Given the description of an element on the screen output the (x, y) to click on. 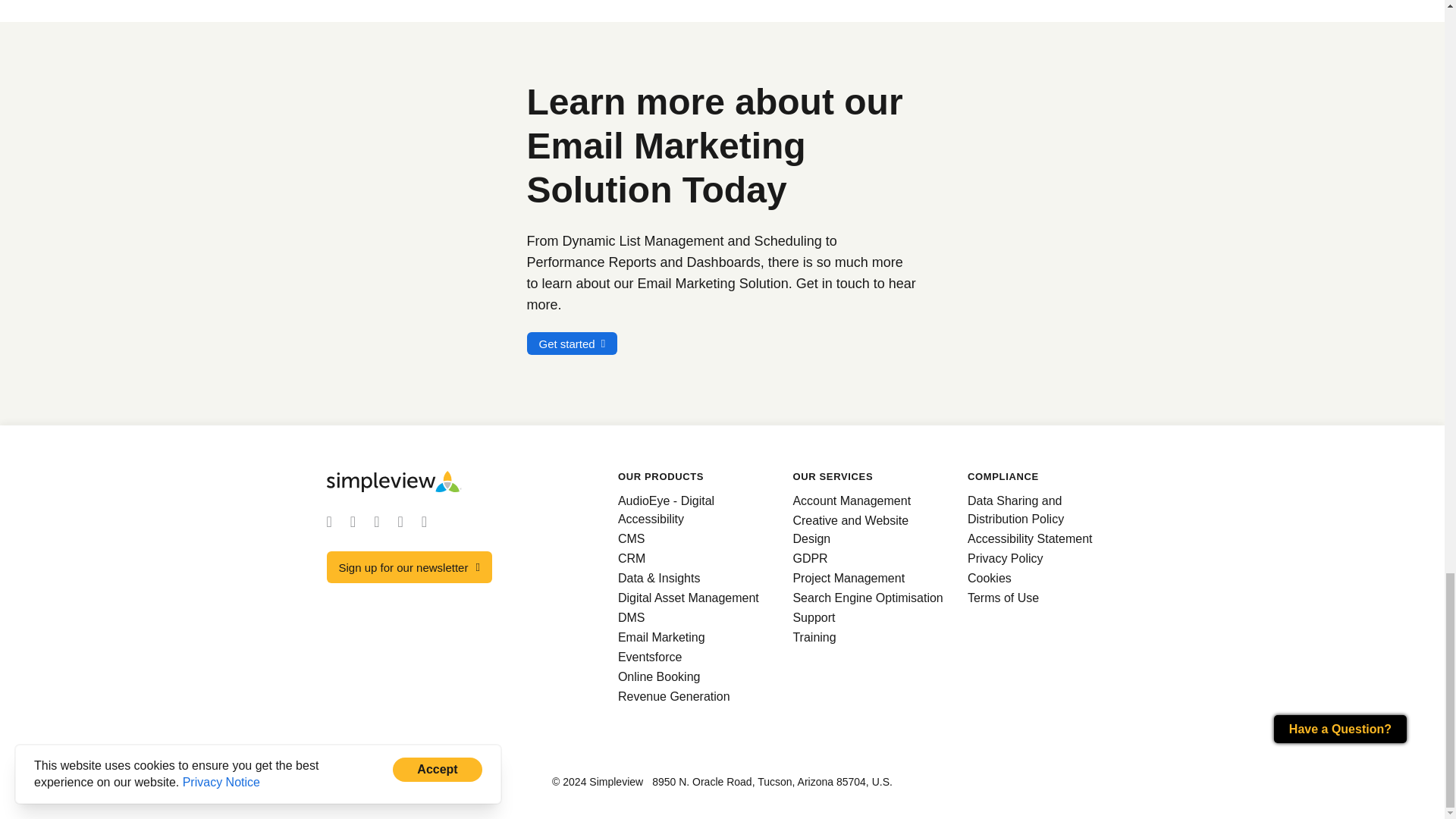
Enquiry (571, 343)
